Given the description of an element on the screen output the (x, y) to click on. 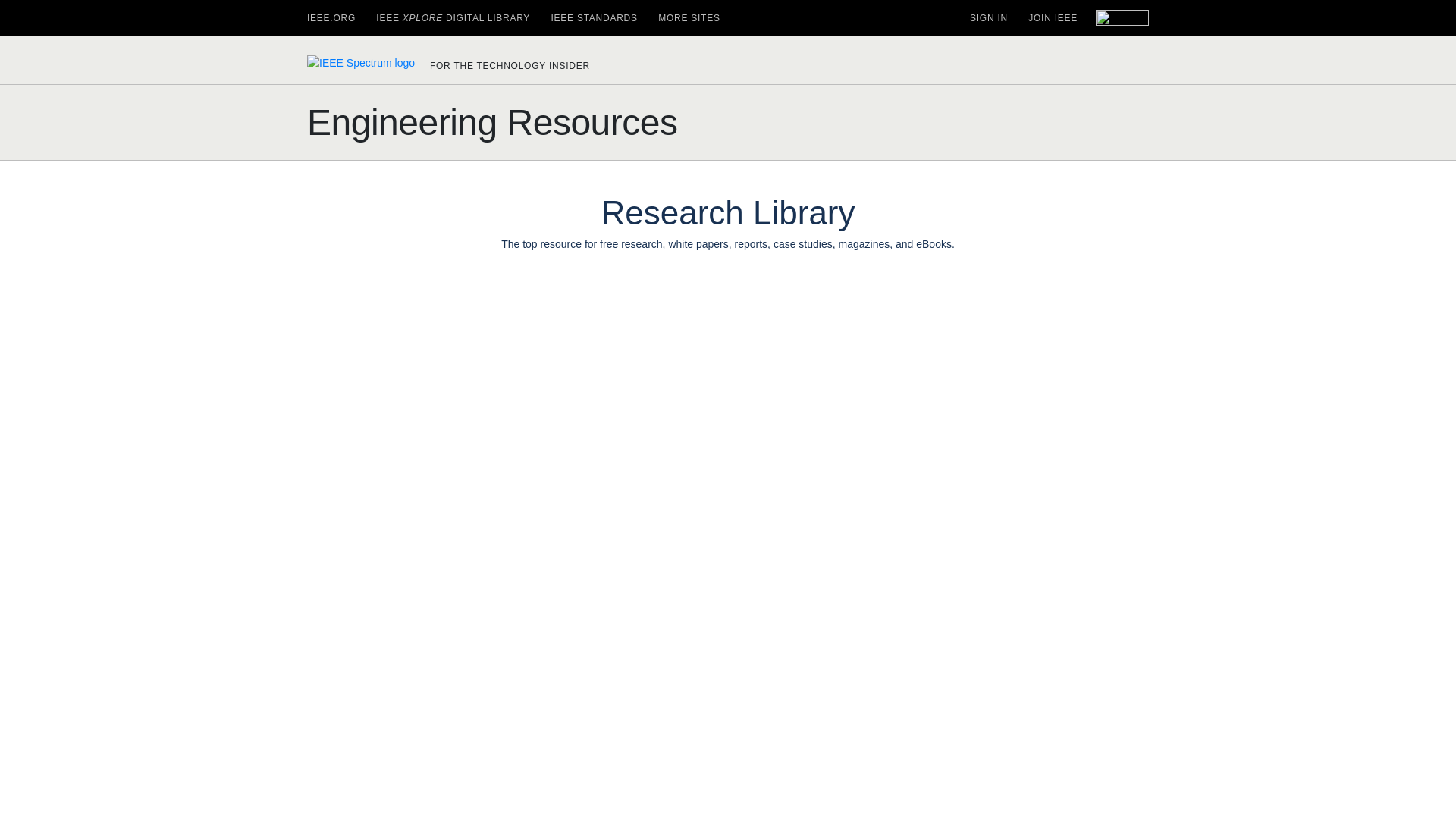
JOIN IEEE (1052, 18)
SIGN IN (988, 18)
IEEE STANDARDS (593, 18)
IEEE XPLORE DIGITAL LIBRARY (452, 18)
IEEE.ORG (331, 18)
MORE SITES (689, 18)
